Given the description of an element on the screen output the (x, y) to click on. 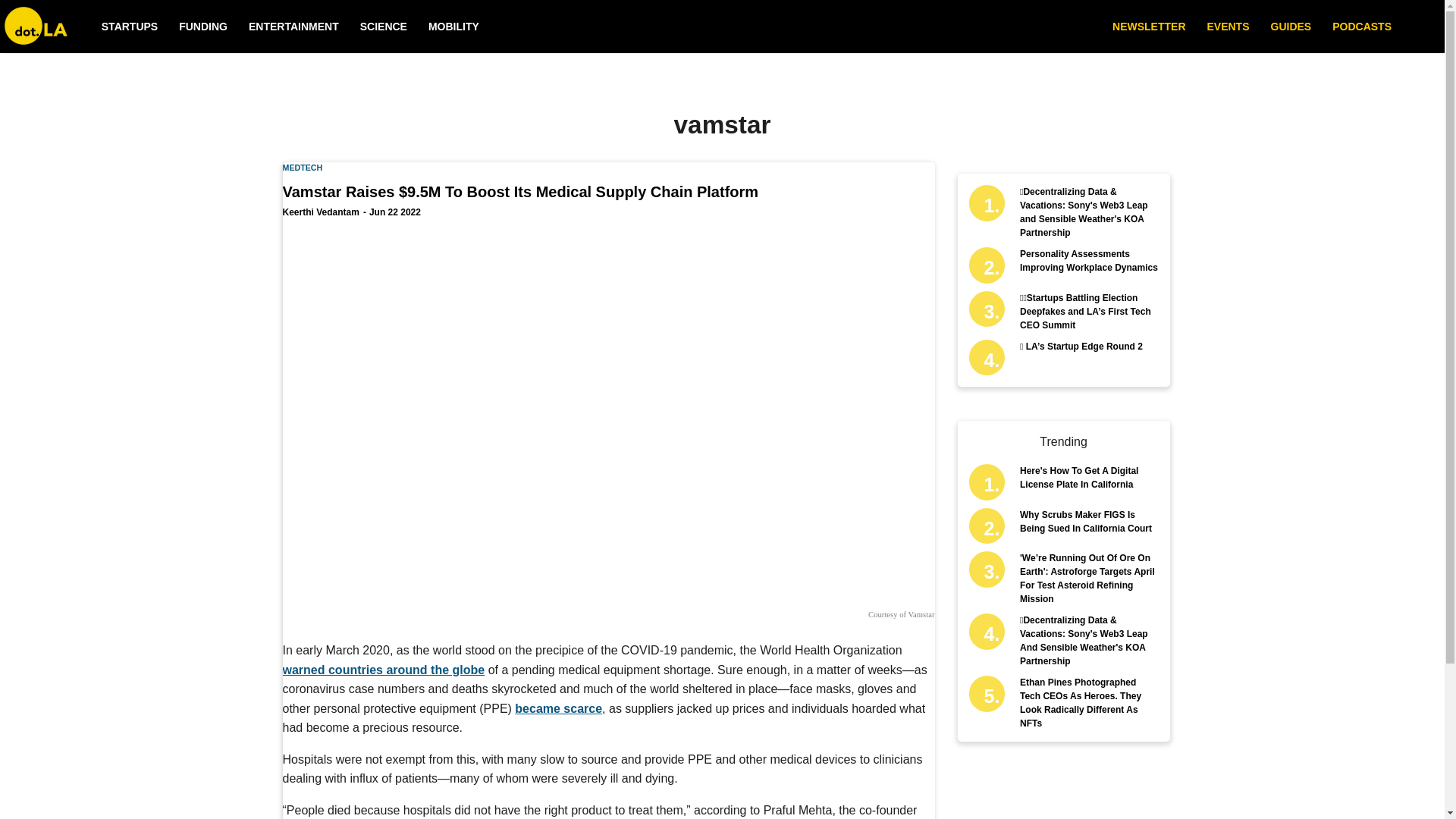
FUNDING (203, 26)
SCIENCE (383, 26)
ENTERTAINMENT (293, 26)
STARTUPS (129, 26)
